Given the description of an element on the screen output the (x, y) to click on. 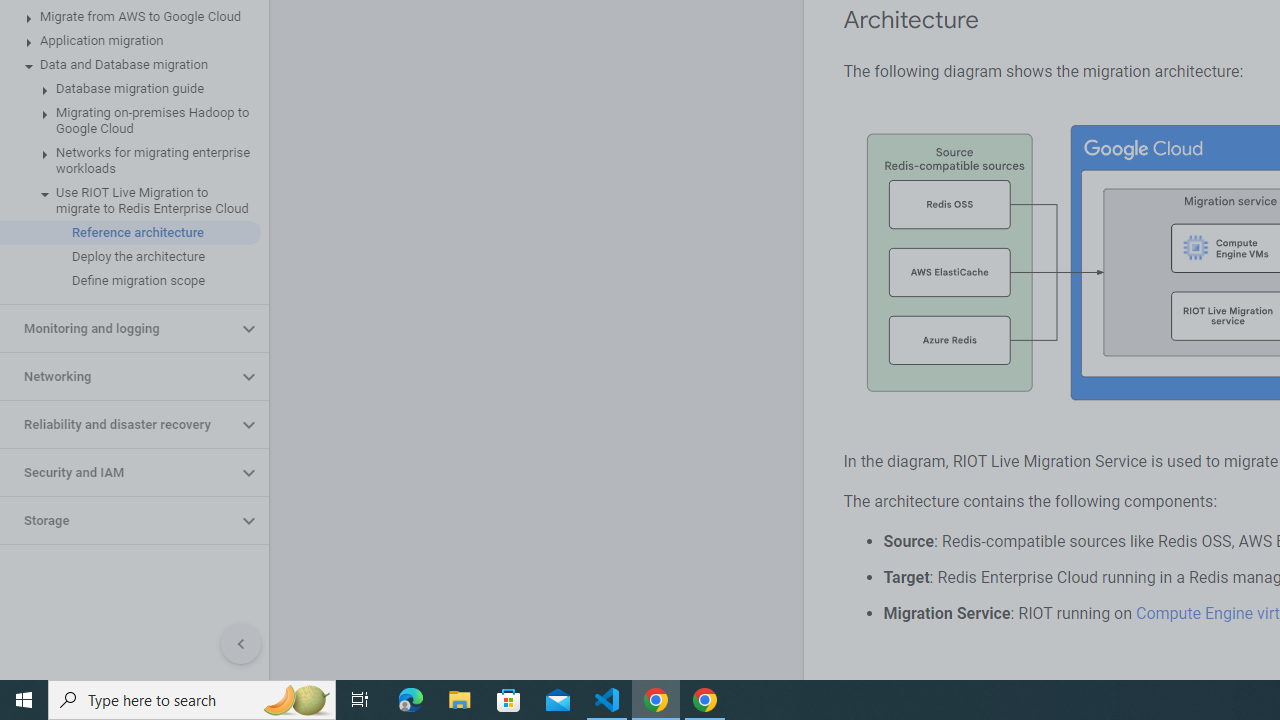
Copy link to this section: Architecture (997, 20)
Use RIOT Live Migration to migrate to Redis Enterprise Cloud (130, 200)
